Given the description of an element on the screen output the (x, y) to click on. 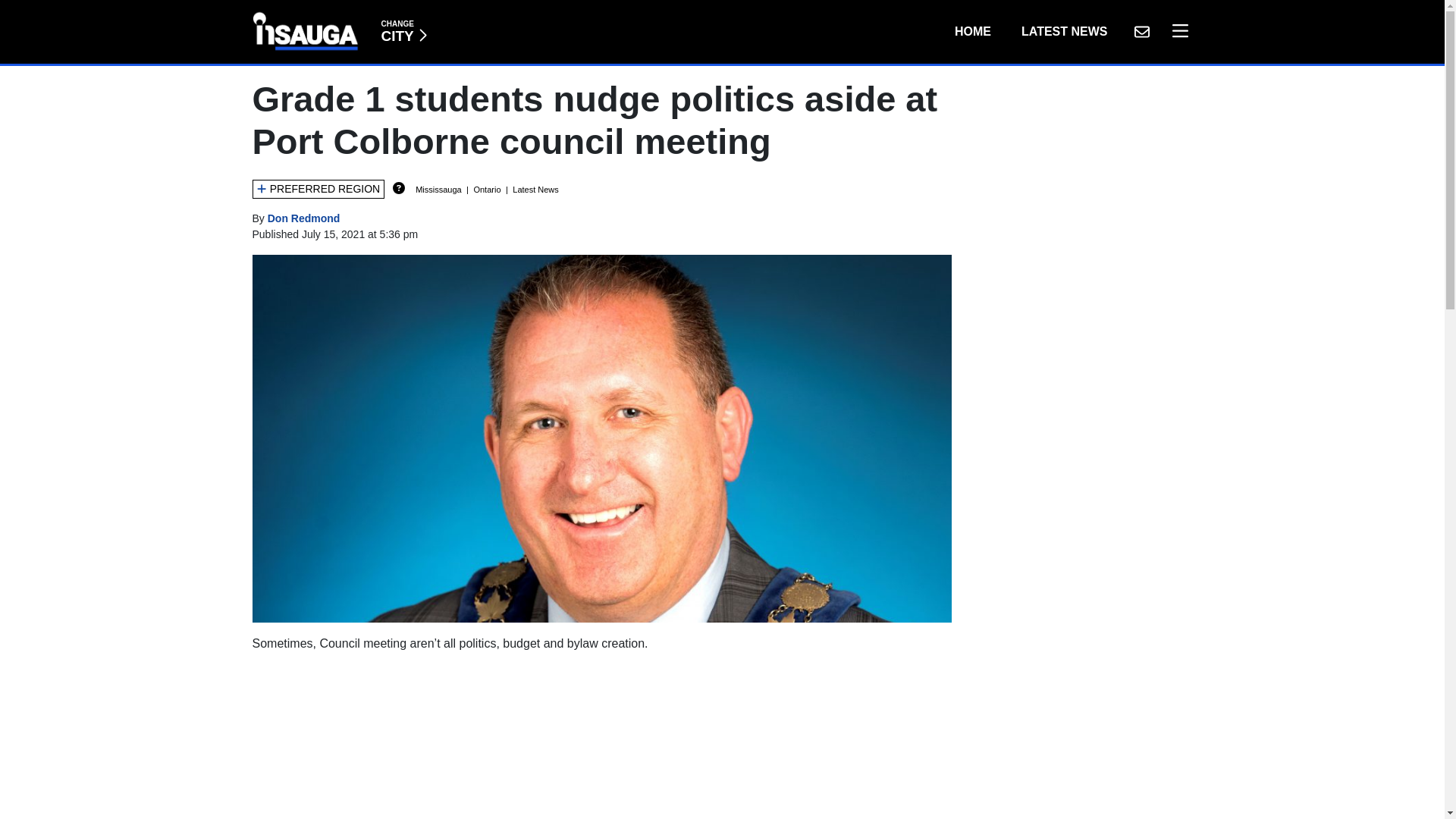
OPEN MENU (1176, 31)
SIGN UP FOR OUR NEWSLETTER (1141, 31)
HOME (972, 31)
3rd party ad content (601, 742)
LATEST NEWS (402, 31)
Posts by 948 (1064, 31)
